Given the description of an element on the screen output the (x, y) to click on. 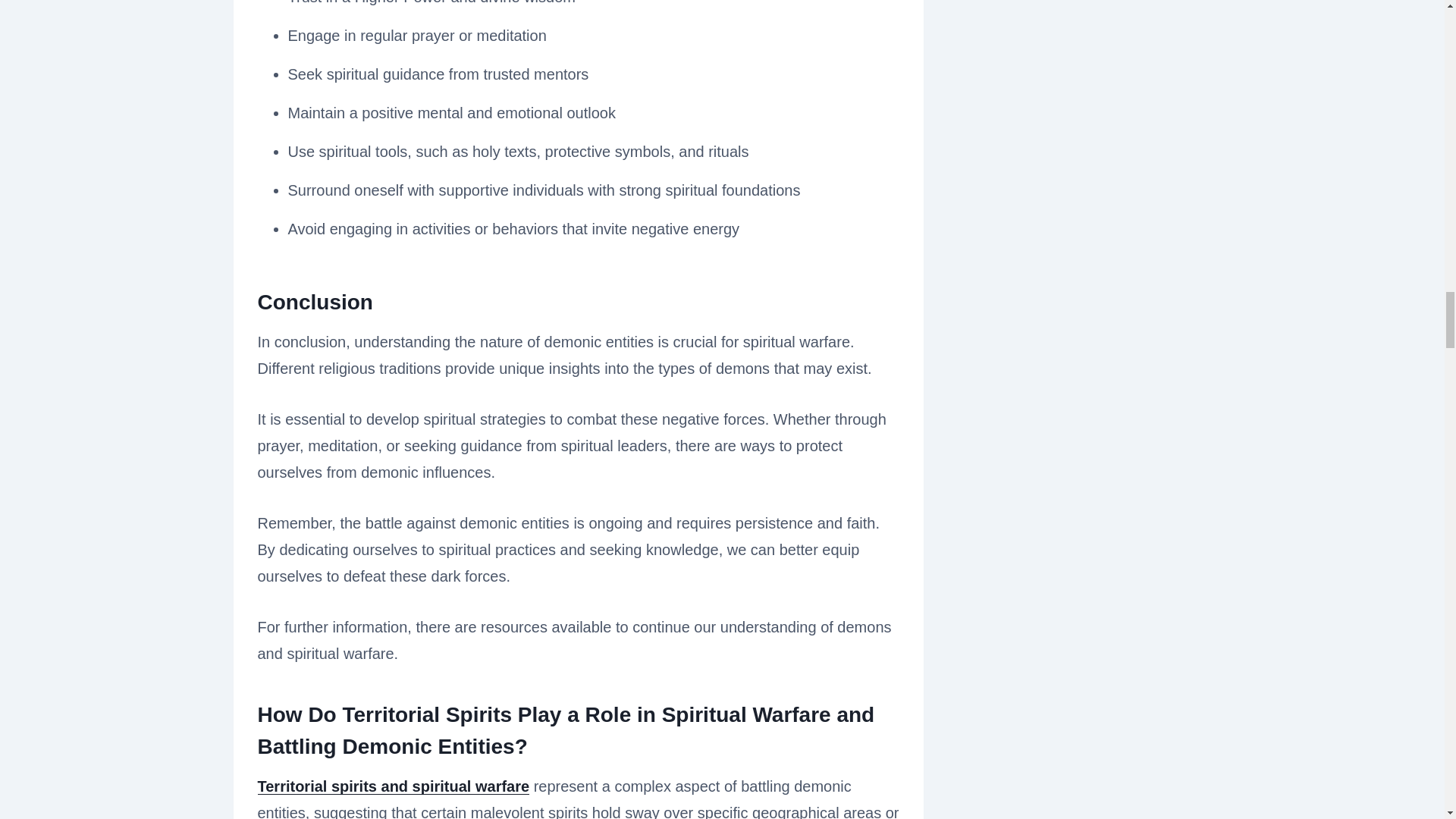
Territorial spirits and spiritual warfare (393, 786)
